Given the description of an element on the screen output the (x, y) to click on. 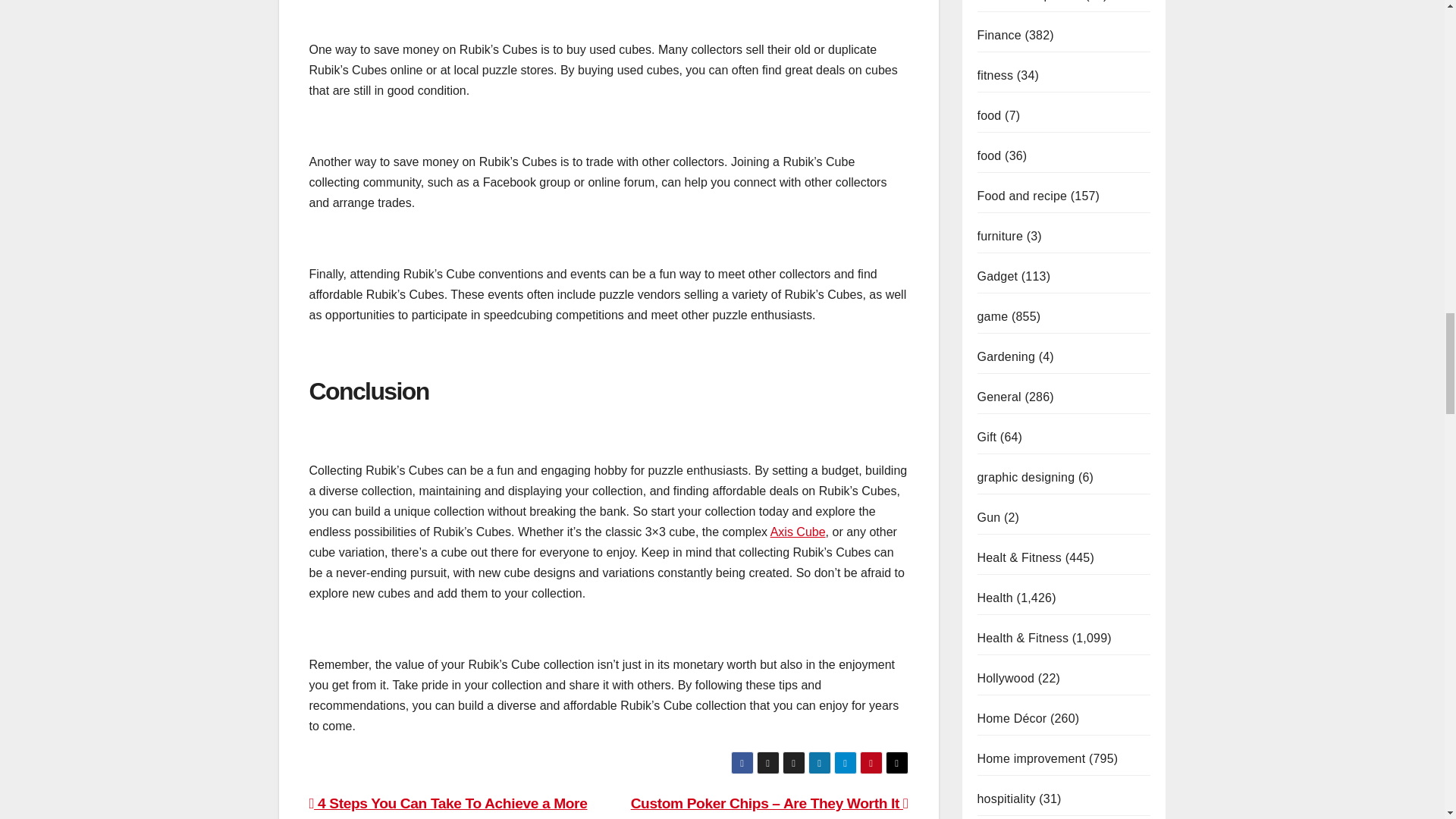
Axis Cube (797, 531)
4 Steps You Can Take To Achieve a More Sustainable Golf Game (448, 807)
